Given the description of an element on the screen output the (x, y) to click on. 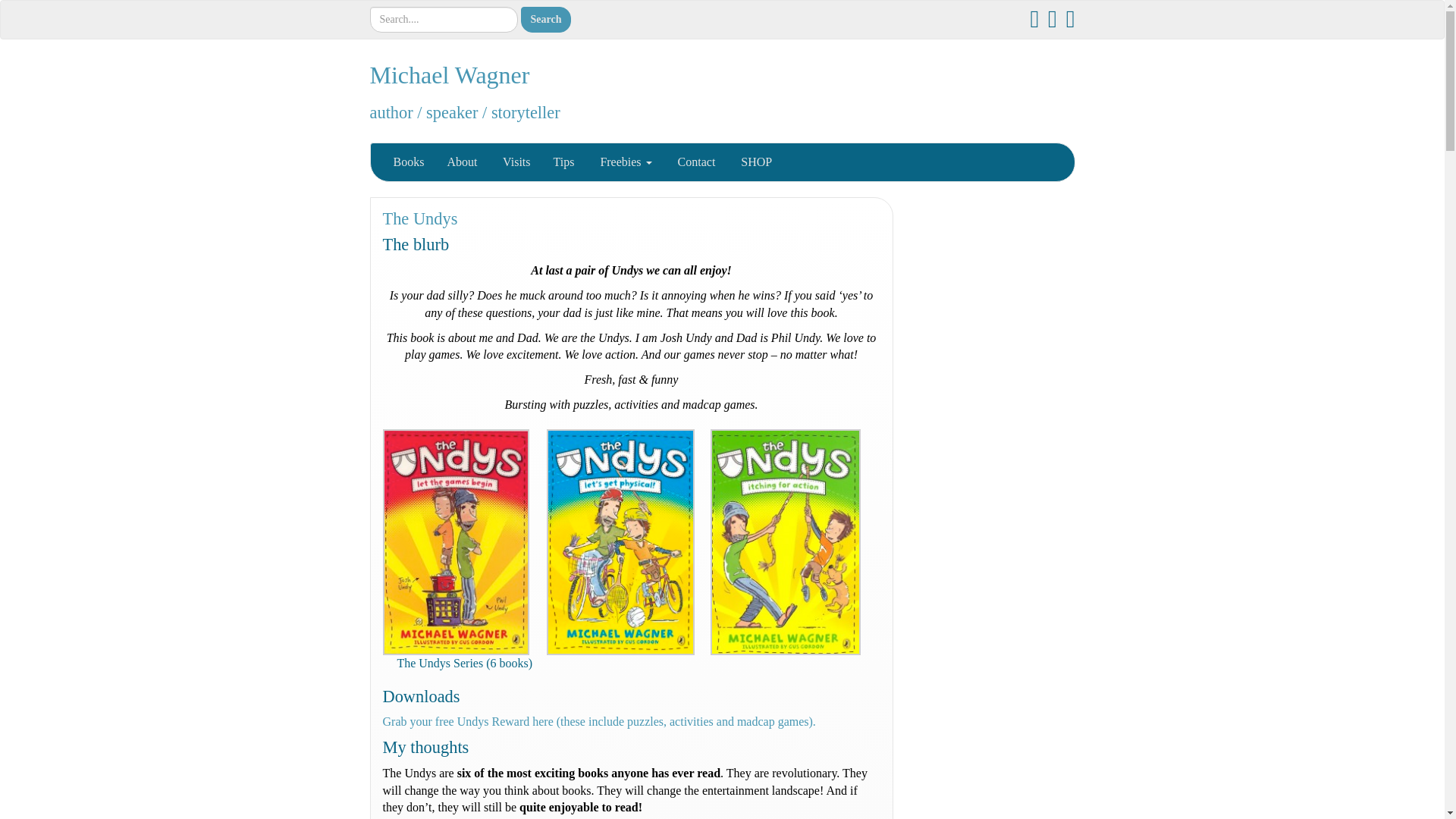
Books (408, 161)
SHOP (754, 161)
 Visits (514, 161)
Tips (563, 161)
Tips (563, 161)
The Undys (419, 218)
Search (544, 19)
About (461, 161)
The Undys (419, 218)
Freebies (623, 161)
About (461, 161)
Contact (694, 161)
 SHOP (754, 161)
Books (408, 161)
Search (544, 19)
